Given the description of an element on the screen output the (x, y) to click on. 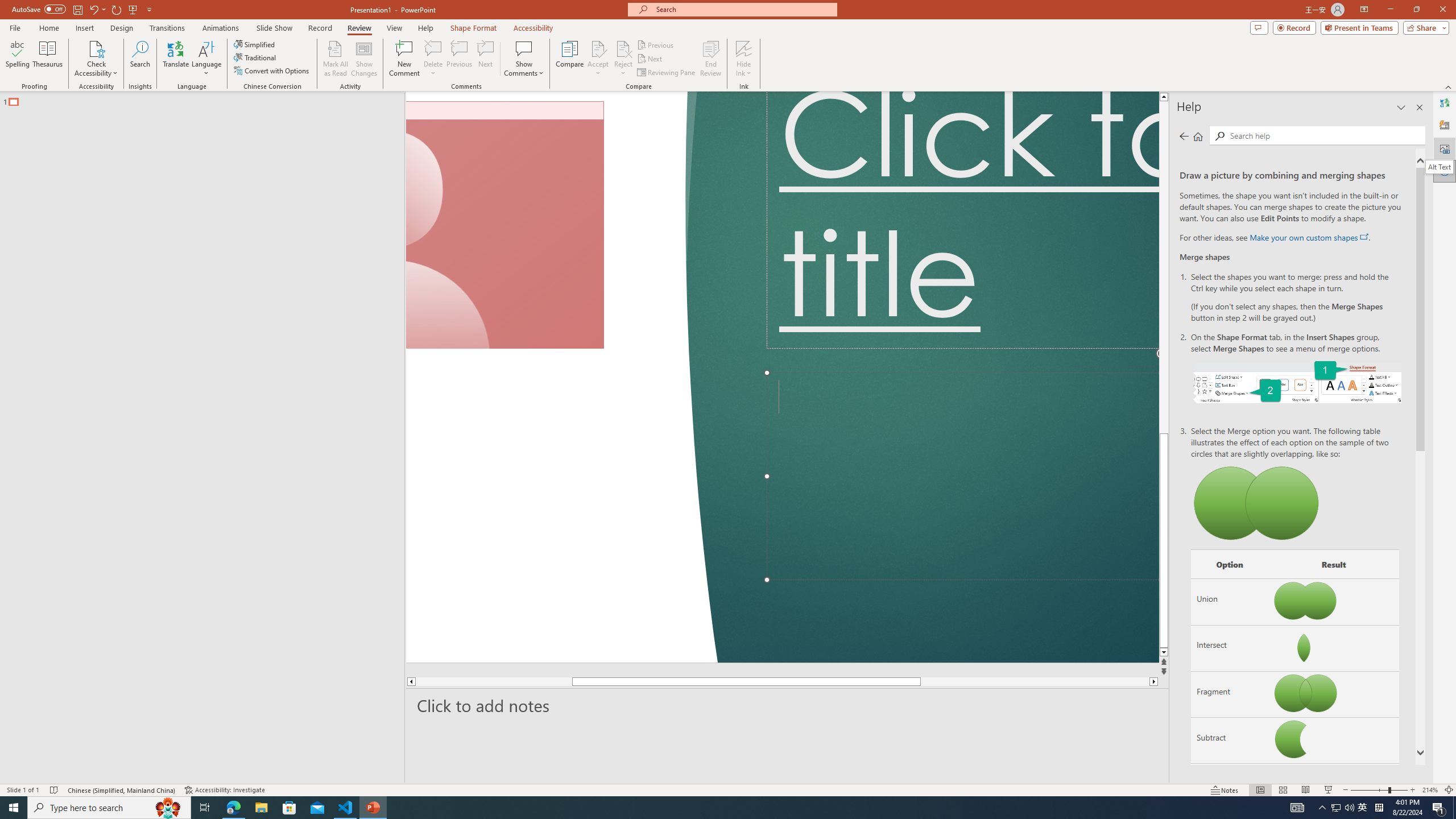
Next (649, 58)
System (6, 6)
Previous page (1183, 136)
Page up (1245, 266)
Line up (1245, 96)
Zoom In (1412, 790)
Alt Text (1439, 166)
Reject Change (622, 48)
Normal (1260, 790)
Redo (117, 9)
openinnewwindow (1363, 237)
Decorative Locked (561, 376)
Customize Quick Access Toolbar (149, 9)
Shape Format (473, 28)
